Given the description of an element on the screen output the (x, y) to click on. 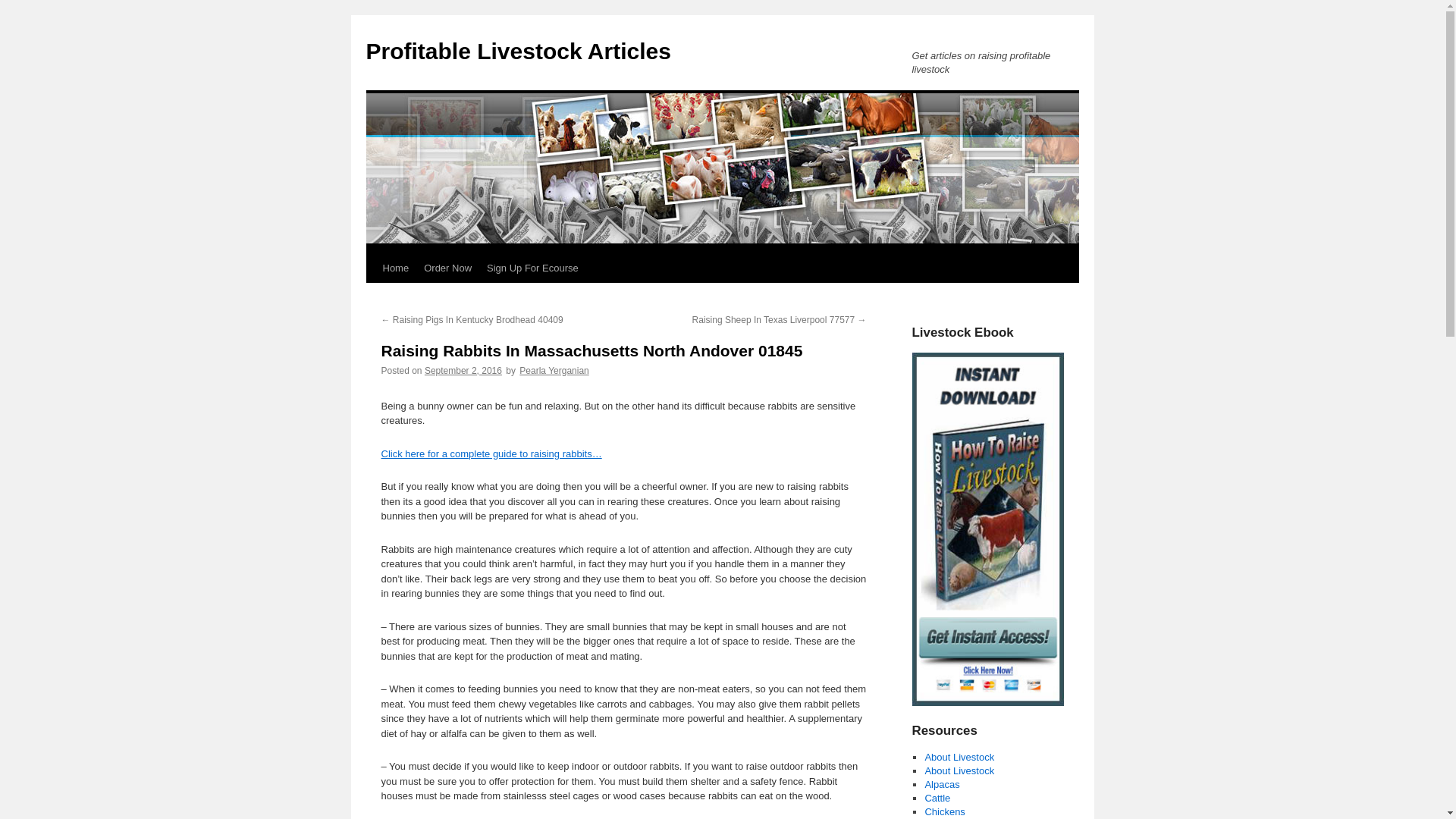
Alpacas (941, 784)
Profitable Livestock Articles (517, 50)
Pearla Yerganian (553, 370)
Sign Up For Ecourse (532, 267)
Home (395, 267)
View all posts by Pearla Yerganian (553, 370)
About Livestock (959, 770)
September 2, 2016 (463, 370)
Order Now (447, 267)
Profitable Livestock Articles (517, 50)
